Given the description of an element on the screen output the (x, y) to click on. 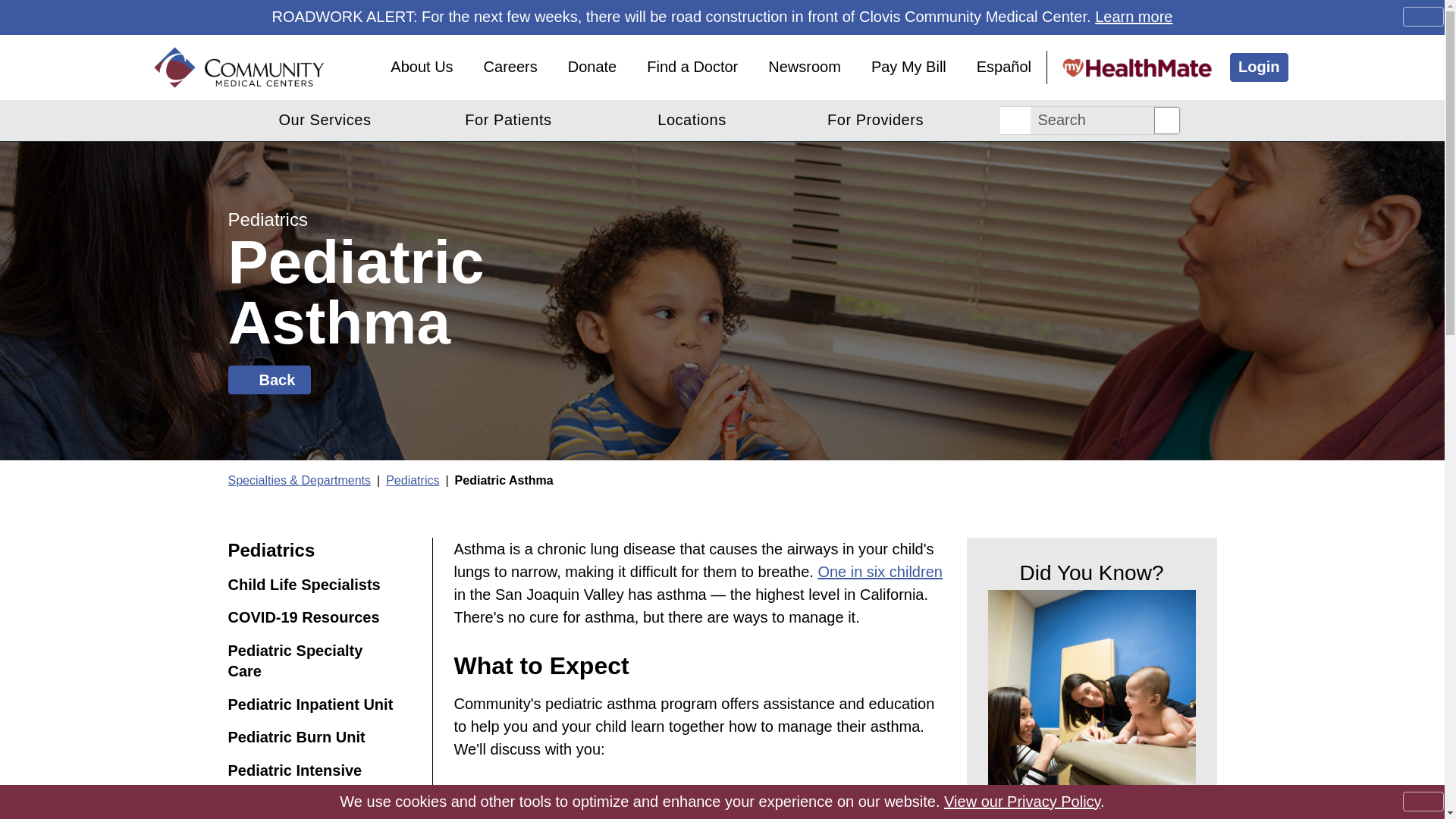
For Patients (507, 120)
Pay My Bill (908, 67)
About Us (421, 67)
Learn more (1133, 16)
Careers (510, 67)
Find a Doctor (691, 67)
Our Services (324, 120)
Donate (592, 67)
Login (1258, 67)
Newsroom (804, 67)
For Providers (874, 120)
Locations (691, 120)
